Given the description of an element on the screen output the (x, y) to click on. 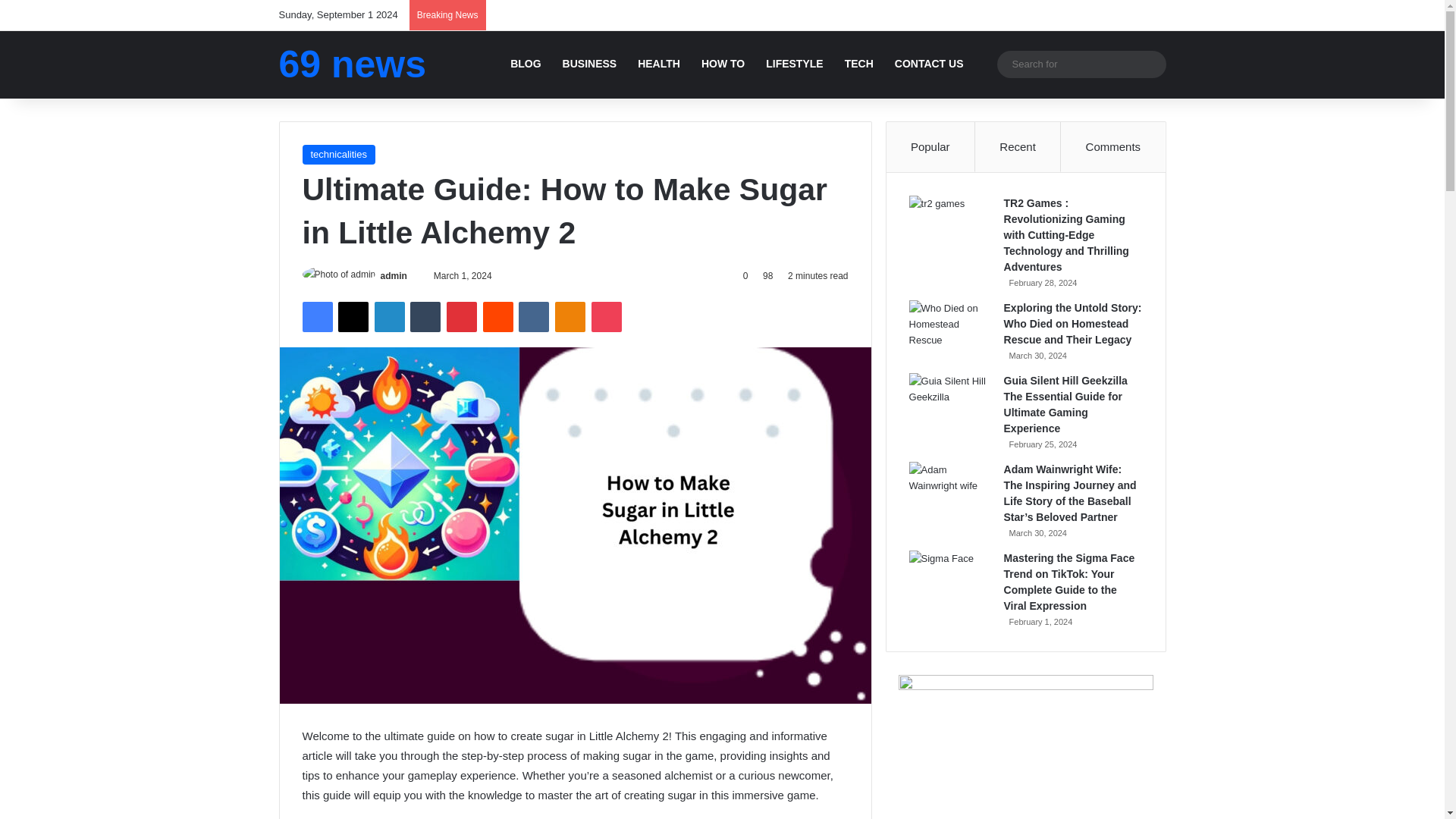
LinkedIn (389, 317)
Tumblr (425, 317)
Search for (1150, 62)
X (352, 317)
Search for (1080, 63)
HOW TO (722, 63)
VKontakte (533, 317)
Pinterest (461, 317)
LIFESTYLE (793, 63)
CONTACT US (928, 63)
